Given the description of an element on the screen output the (x, y) to click on. 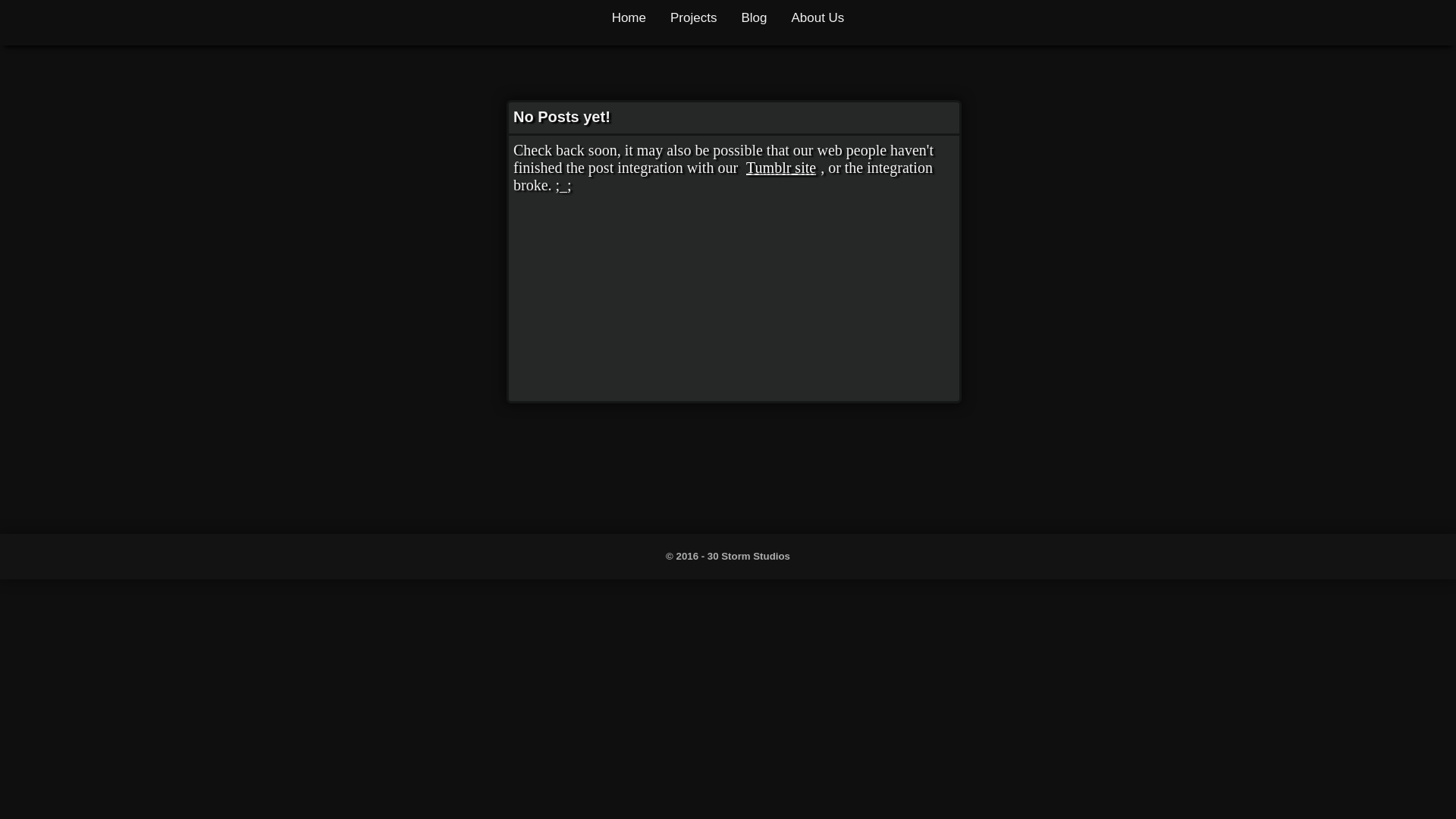
Blog Element type: text (753, 22)
Projects Element type: text (693, 22)
Tumblr site Element type: text (780, 167)
About Us Element type: text (817, 22)
Home Element type: text (628, 22)
